Given the description of an element on the screen output the (x, y) to click on. 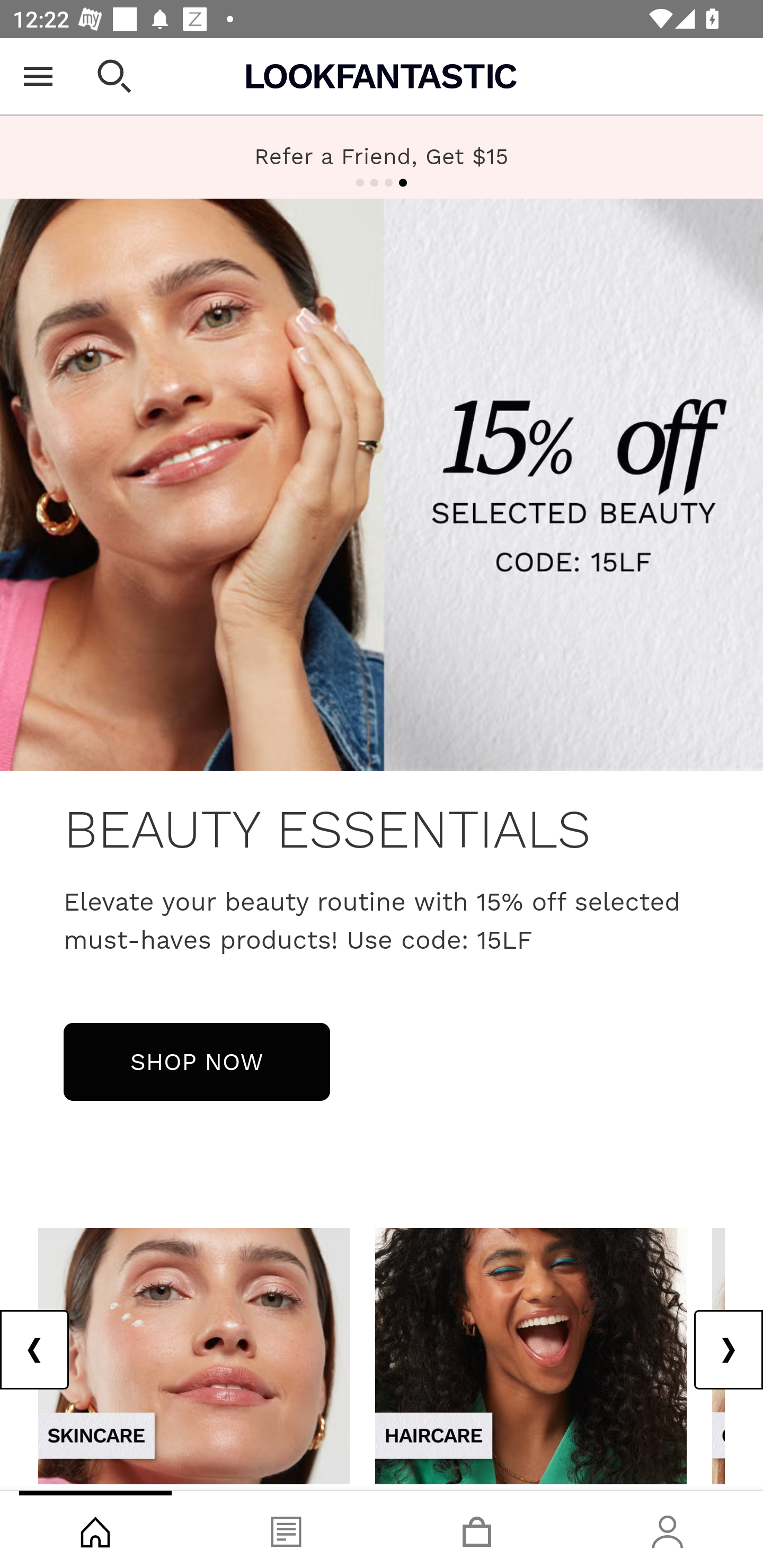
Open Menu (38, 75)
Open search (114, 75)
Lookfantastic USA (381, 75)
SHOP NOW (196, 1061)
view-all (193, 1355)
view-all (530, 1355)
Previous (35, 1349)
Next (727, 1349)
Shop, tab, 1 of 4 (95, 1529)
Blog, tab, 2 of 4 (285, 1529)
Basket, tab, 3 of 4 (476, 1529)
Account, tab, 4 of 4 (667, 1529)
